Given the description of an element on the screen output the (x, y) to click on. 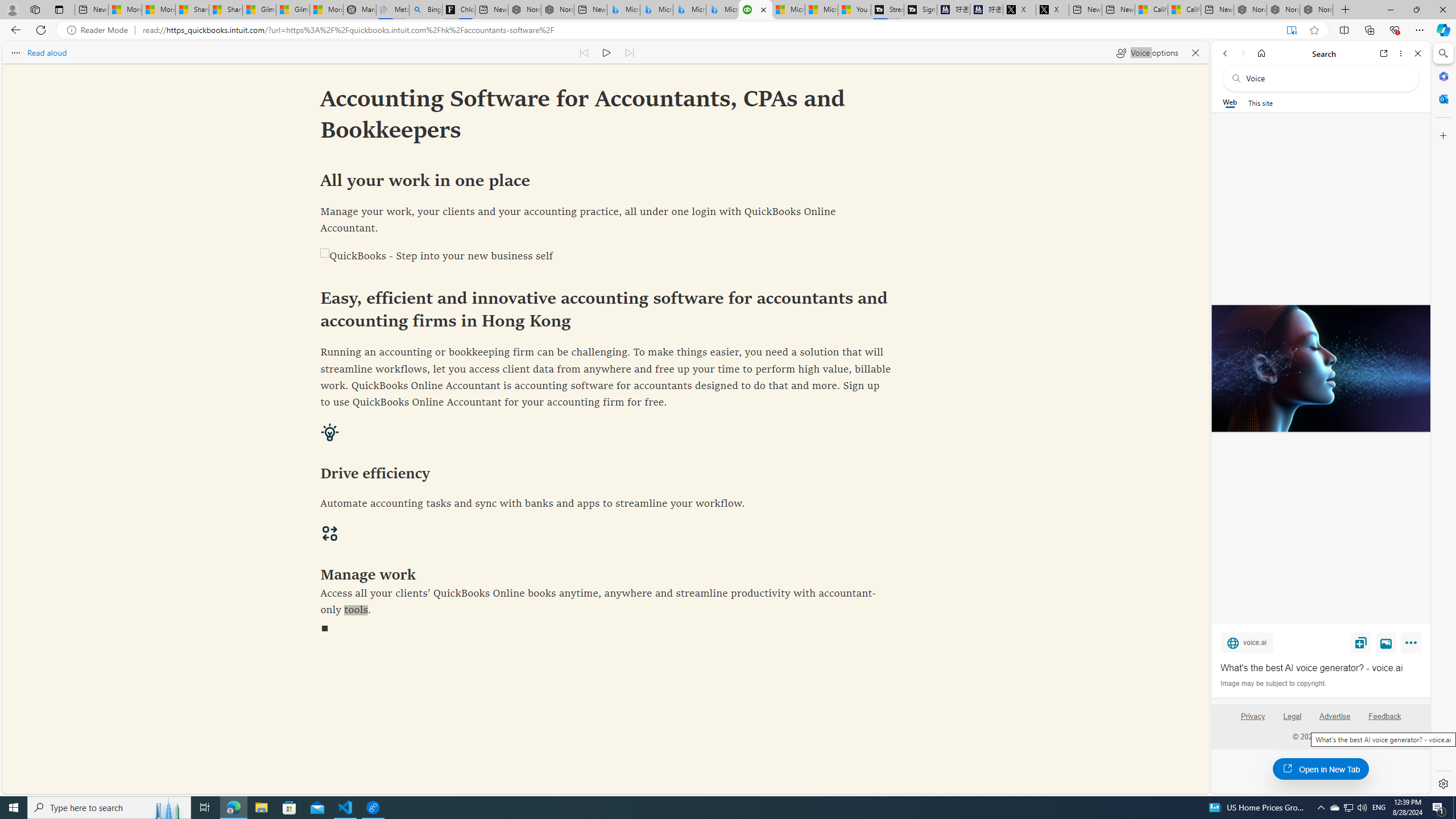
Nordace Siena Pro 15 Backpack (1283, 9)
voice.ai (1247, 642)
This site scope (1259, 102)
Accounting Software for Accountants, CPAs and Bookkeepers (755, 9)
Forward (1242, 53)
